Given the description of an element on the screen output the (x, y) to click on. 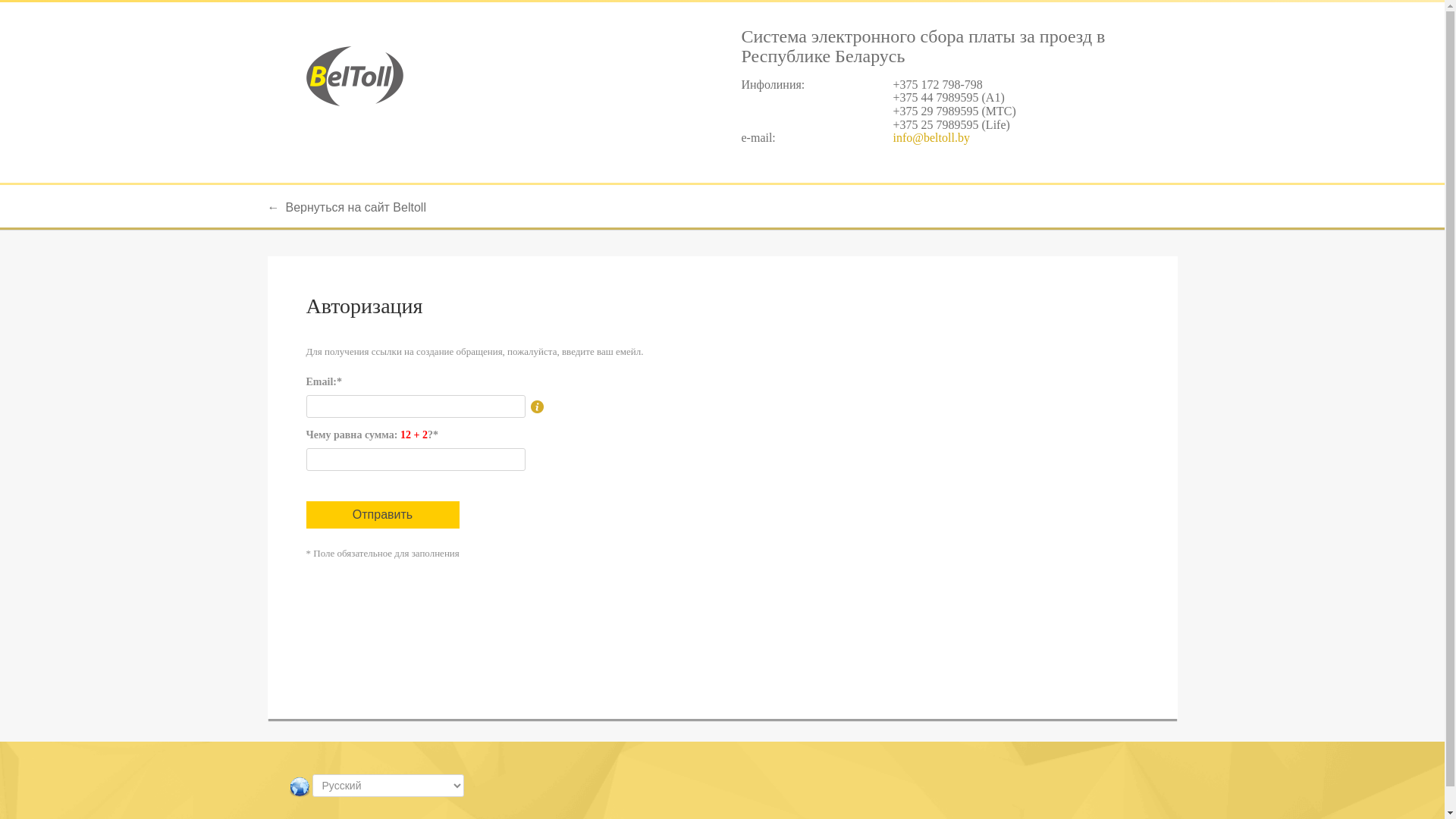
info@beltoll.by Element type: text (931, 137)
